Given the description of an element on the screen output the (x, y) to click on. 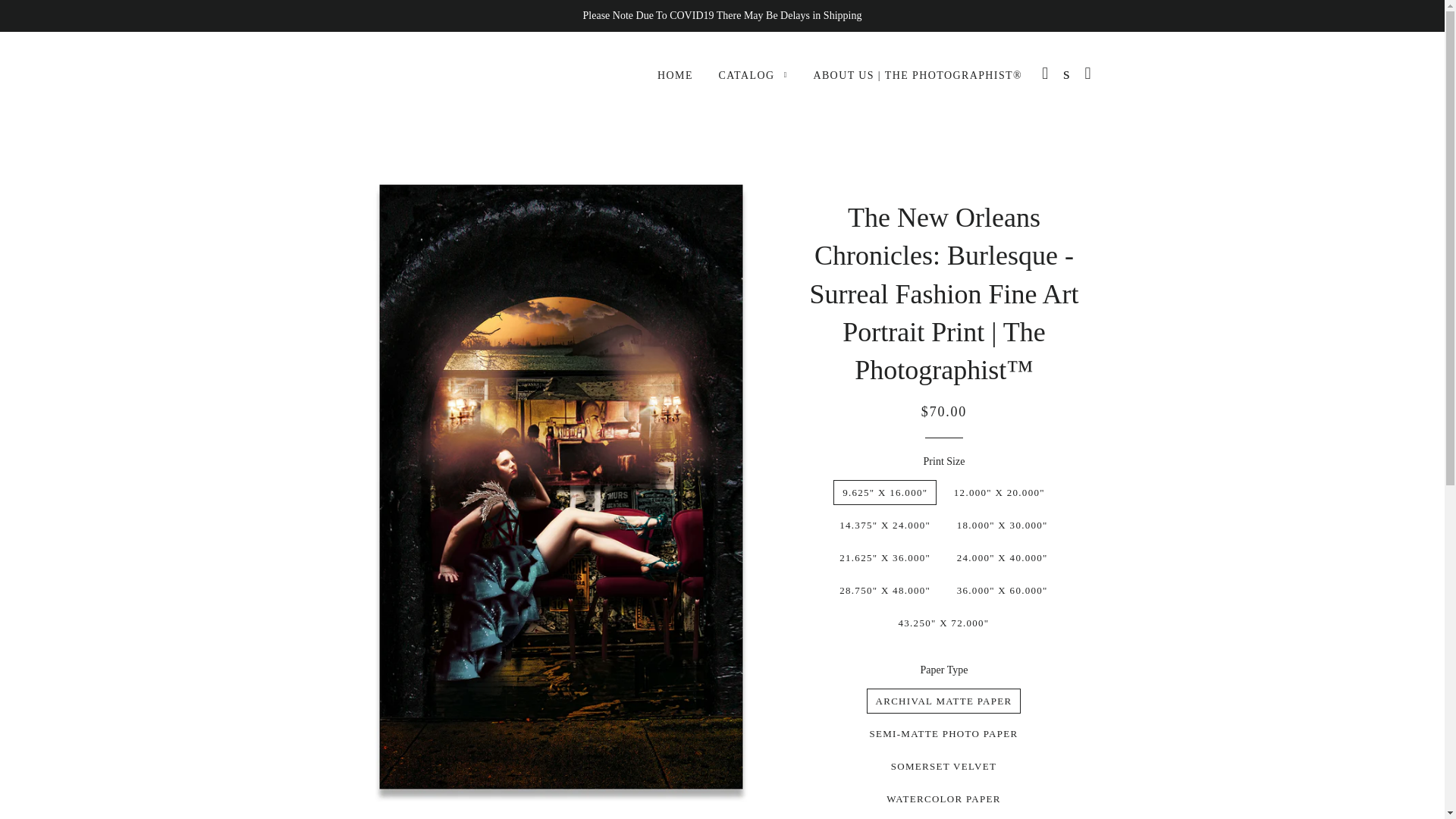
CATALOG (751, 75)
